Given the description of an element on the screen output the (x, y) to click on. 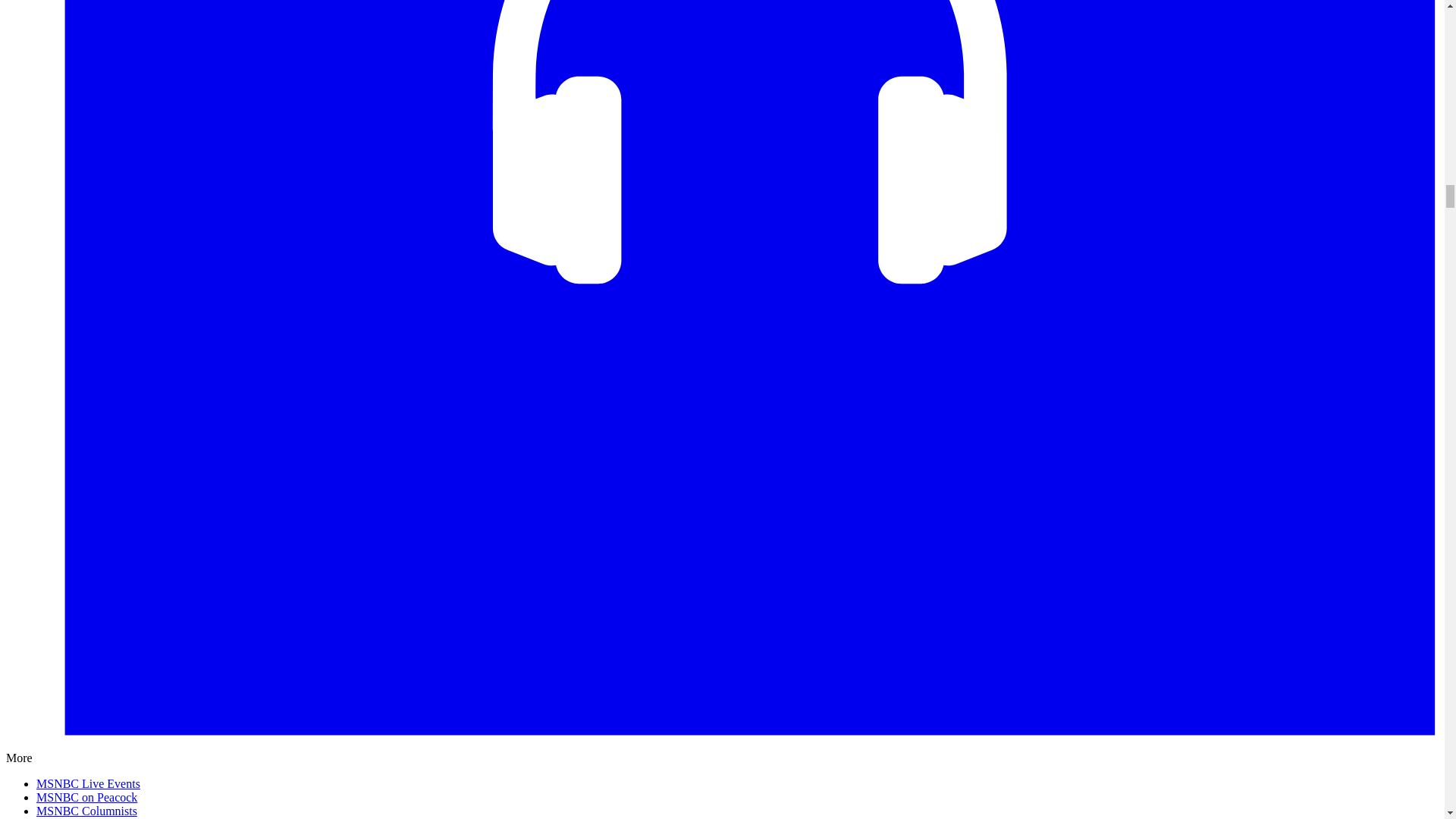
MSNBC on Peacock (86, 797)
MSNBC Live Events (87, 783)
